Given the description of an element on the screen output the (x, y) to click on. 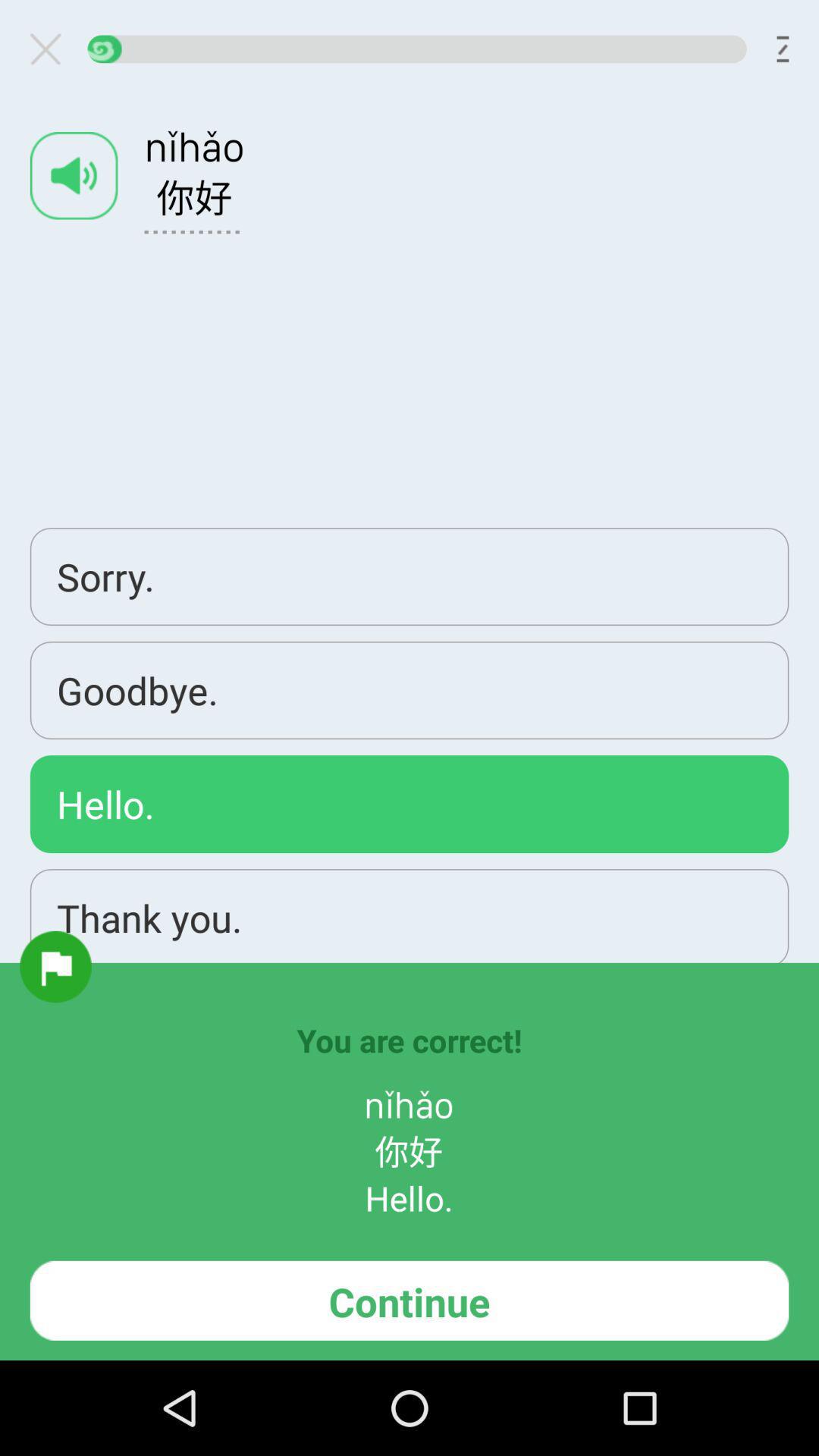
choose item below the hello. app (55, 966)
